Given the description of an element on the screen output the (x, y) to click on. 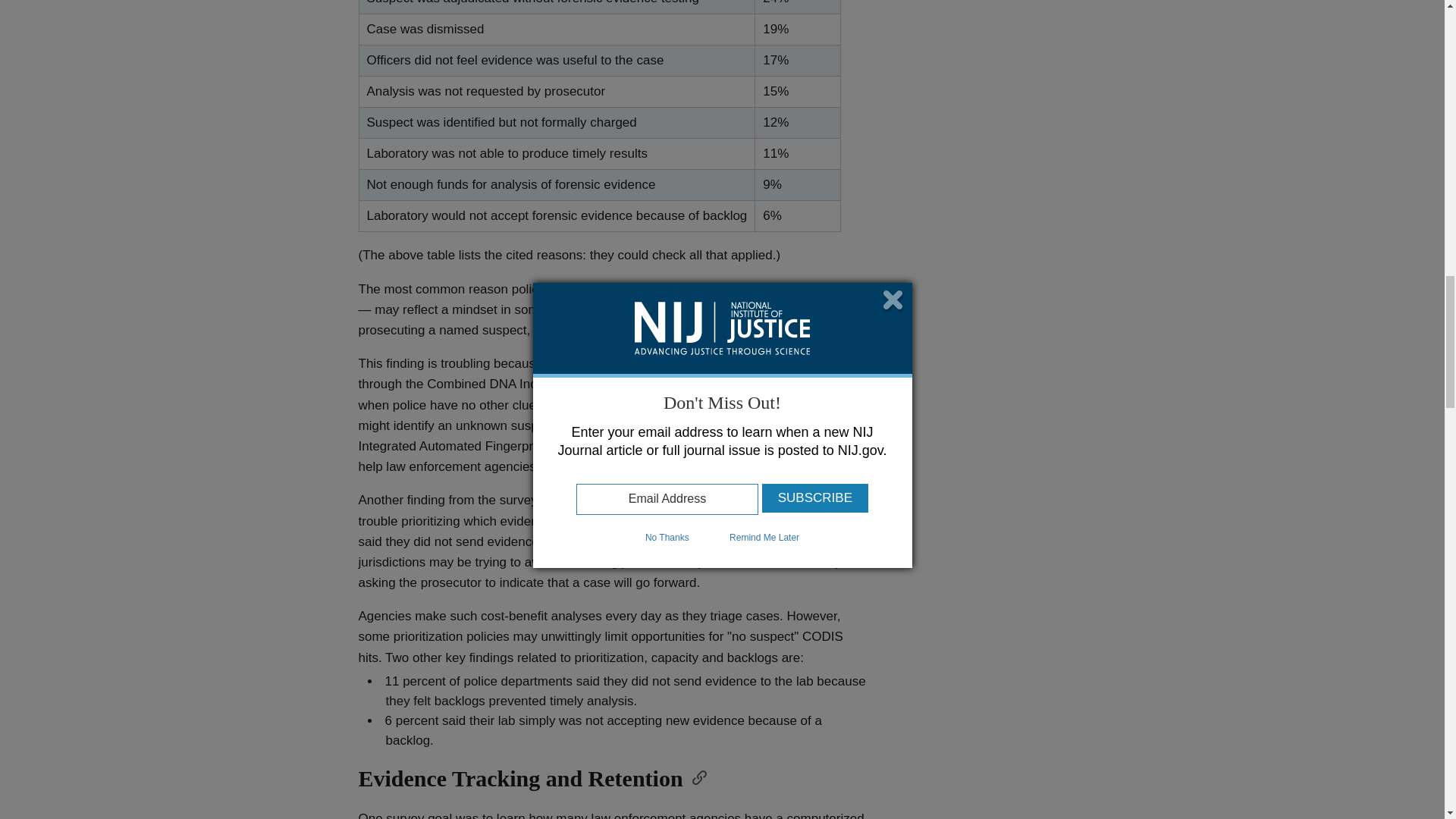
Copy link to section: Evidence Tracking and Retention (694, 775)
